Given the description of an element on the screen output the (x, y) to click on. 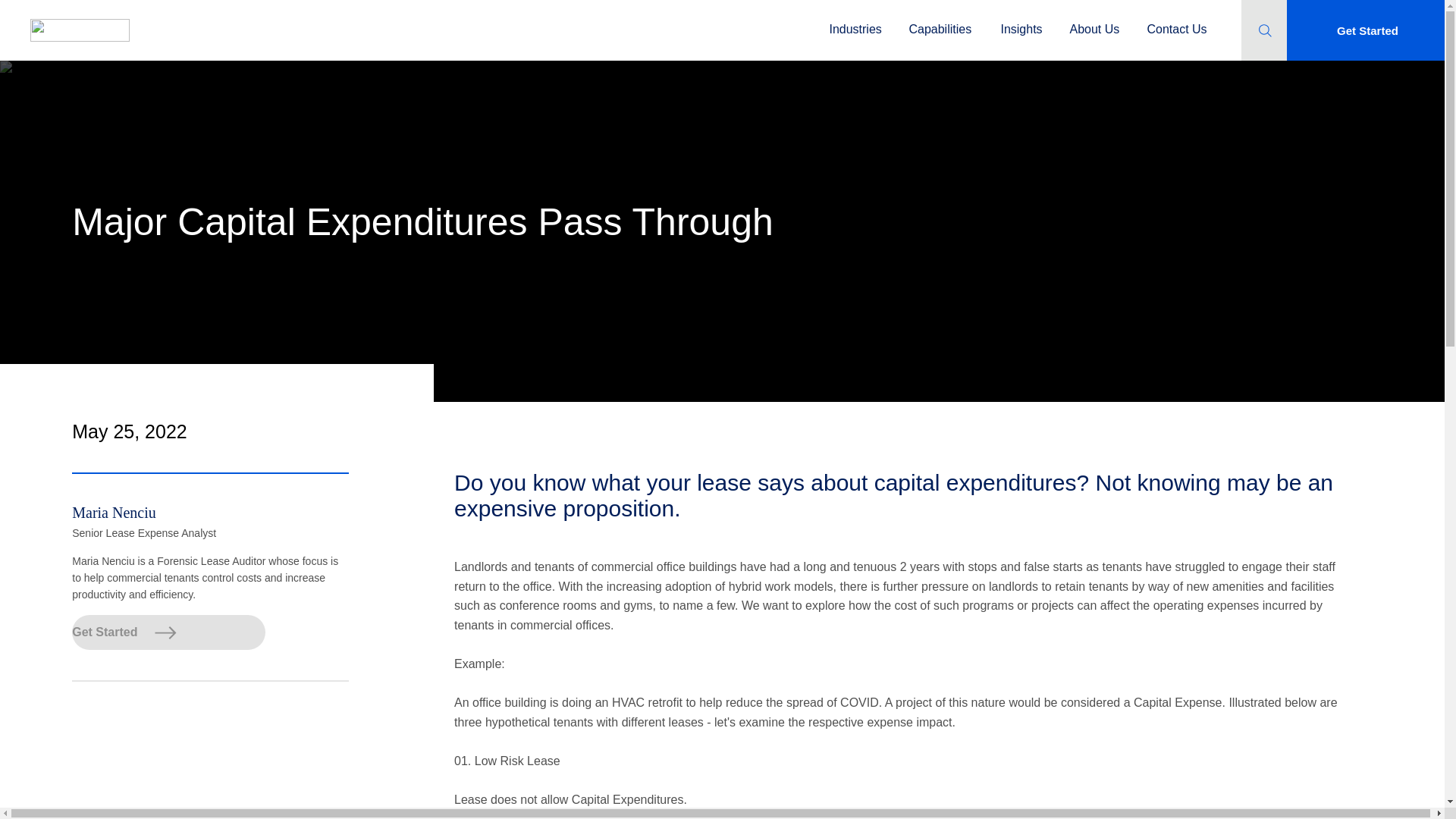
Contact Us (1176, 22)
Get Started (167, 632)
About Us (1093, 22)
